Given the description of an element on the screen output the (x, y) to click on. 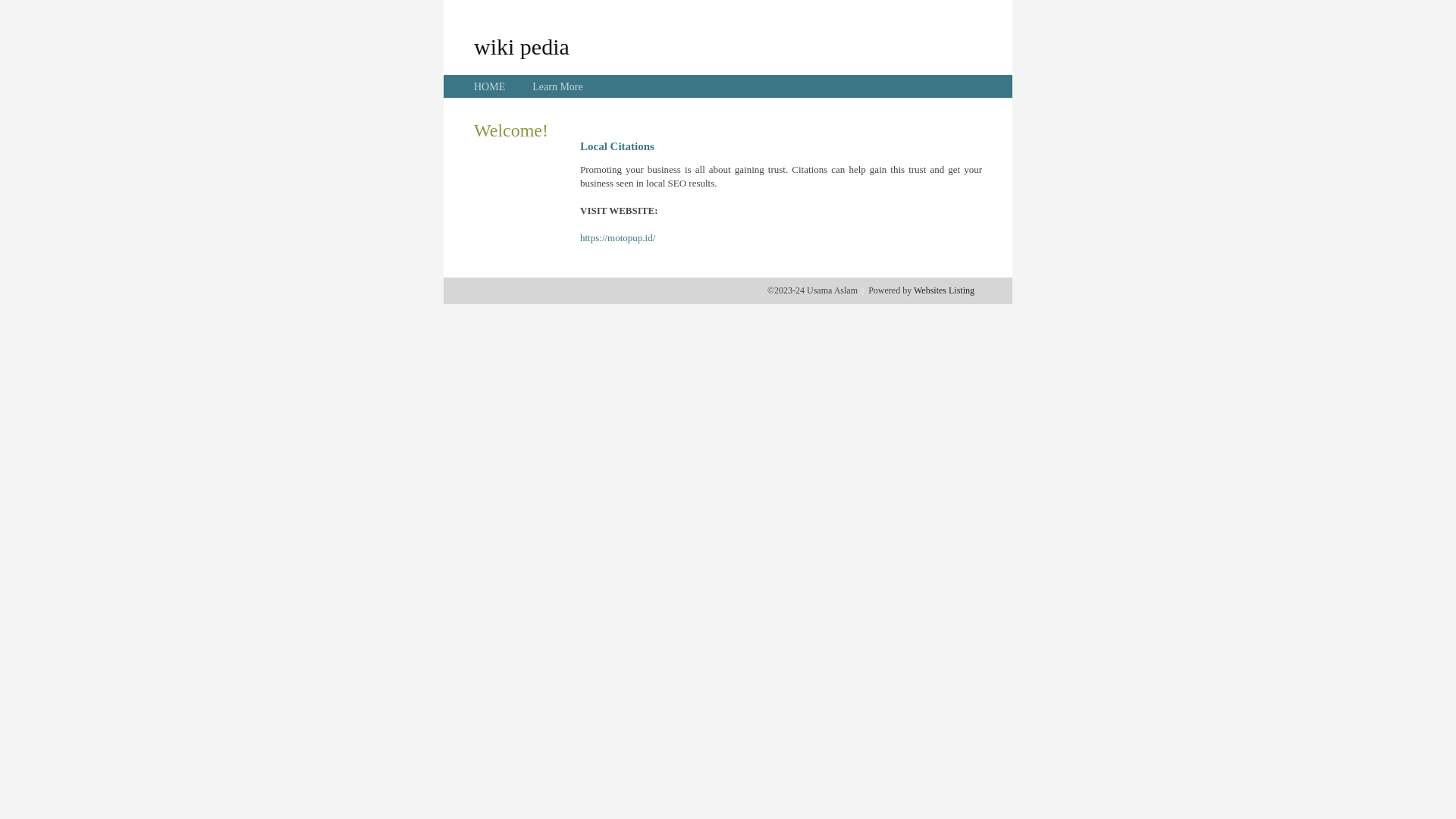
HOME Element type: text (489, 86)
https://motopup.id/ Element type: text (617, 237)
wiki pedia Element type: text (521, 46)
Websites Listing Element type: text (943, 290)
Learn More Element type: text (557, 86)
